Given the description of an element on the screen output the (x, y) to click on. 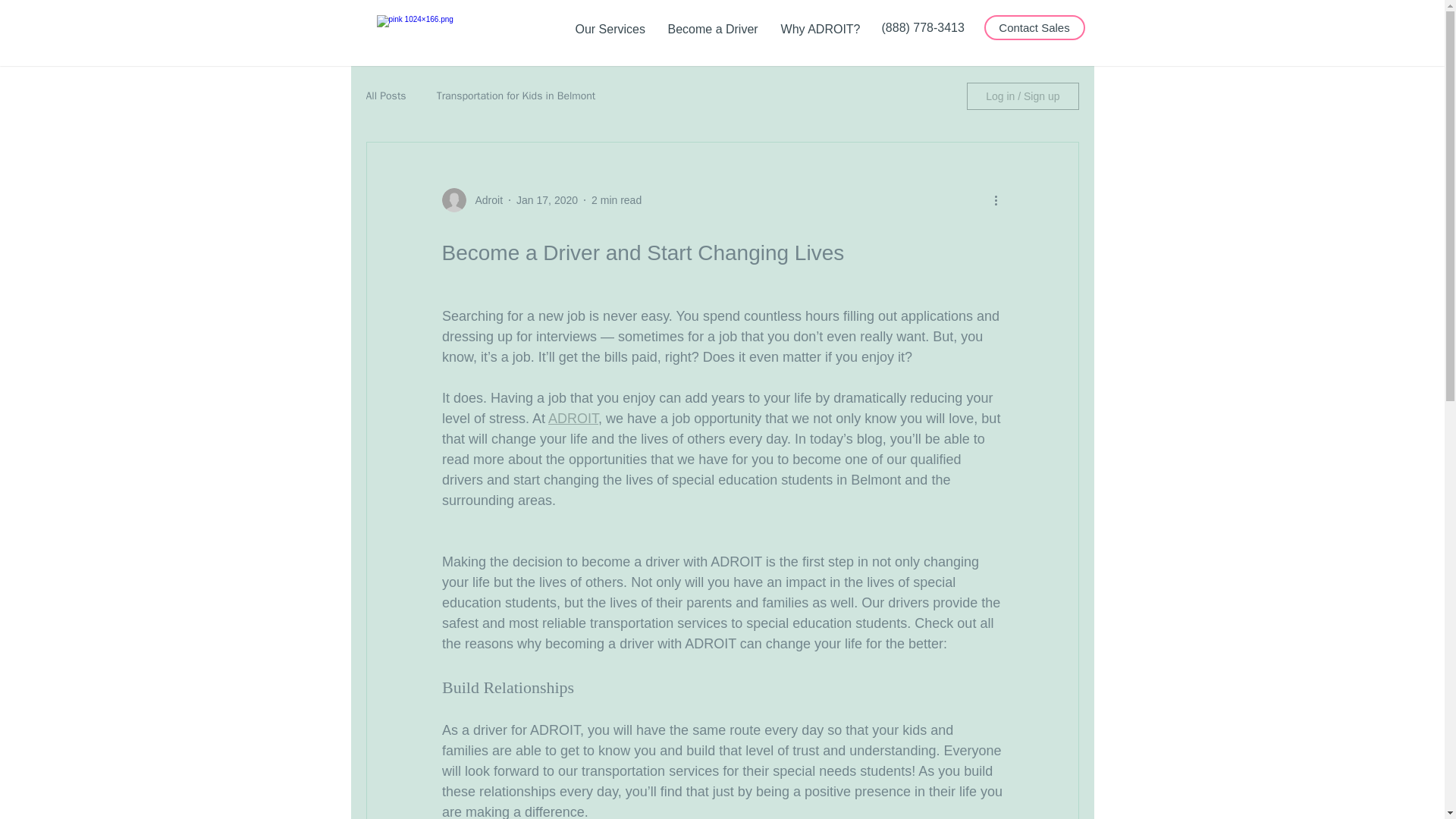
All Posts (385, 96)
Contact Sales (1034, 27)
Our Services (610, 29)
Why ADROIT? (819, 29)
ADROIT (573, 418)
2 min read (616, 200)
Become a Driver (713, 29)
Transportation for Kids in Belmont (515, 96)
Adroit (483, 200)
Jan 17, 2020 (547, 200)
